Given the description of an element on the screen output the (x, y) to click on. 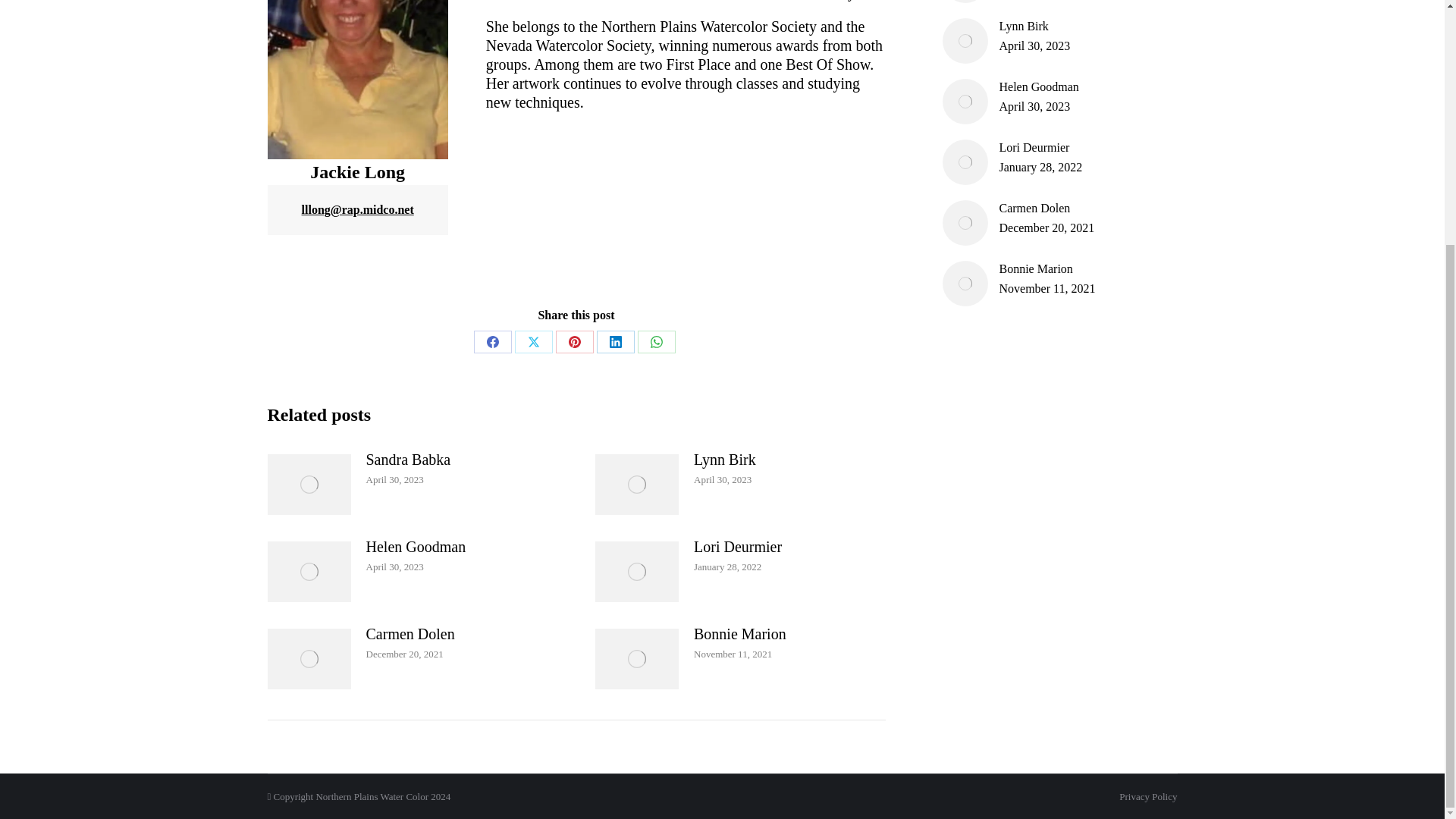
LinkedIn (615, 341)
Facebook (493, 341)
Jackie Long (356, 79)
Pinterest (575, 341)
X (534, 341)
WhatsApp (656, 341)
